Given the description of an element on the screen output the (x, y) to click on. 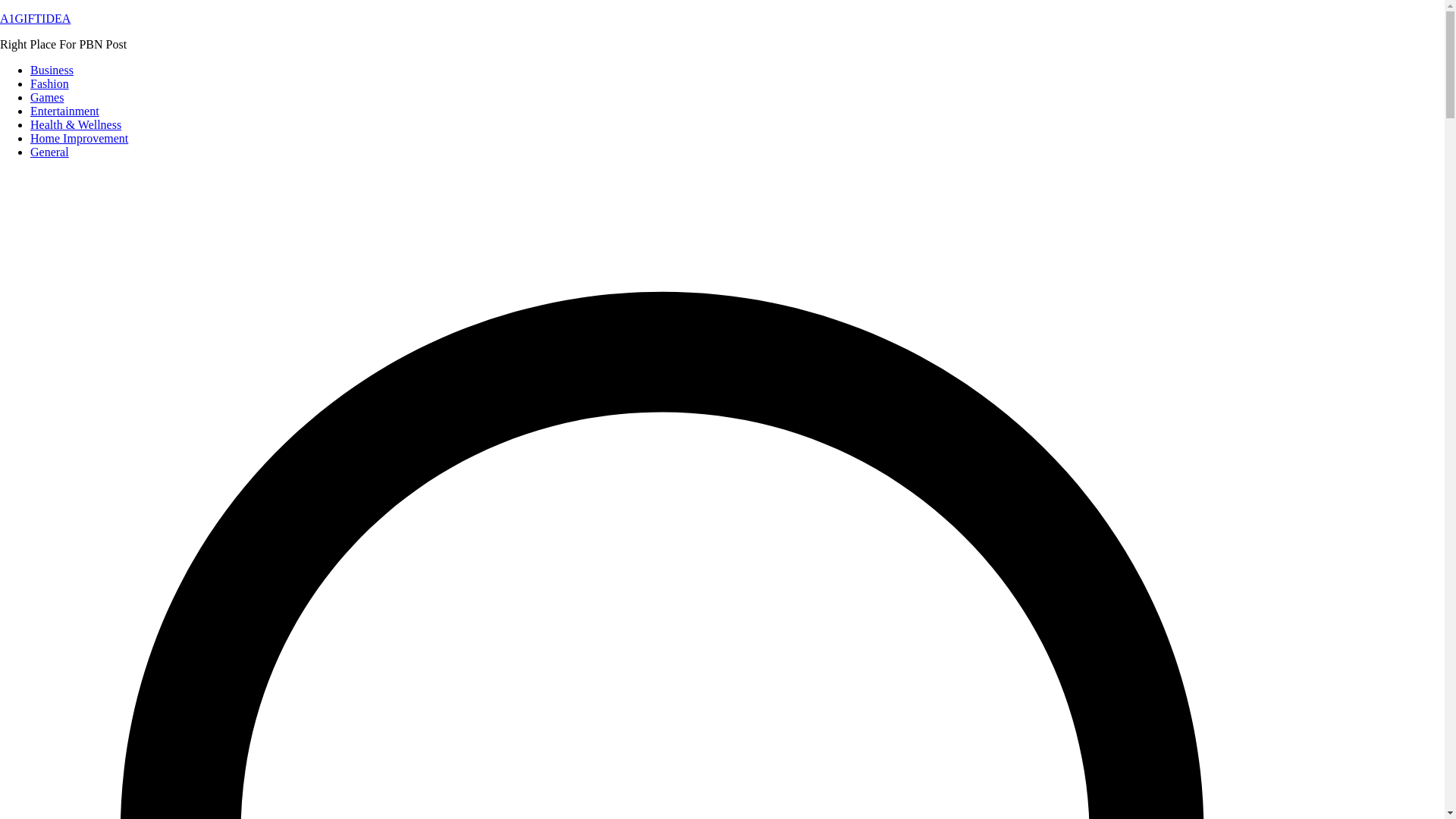
A1GIFTIDEA (34, 18)
Home Improvement (79, 137)
Entertainment (64, 110)
General (49, 151)
Fashion (49, 83)
Business (52, 69)
Games (47, 97)
